Given the description of an element on the screen output the (x, y) to click on. 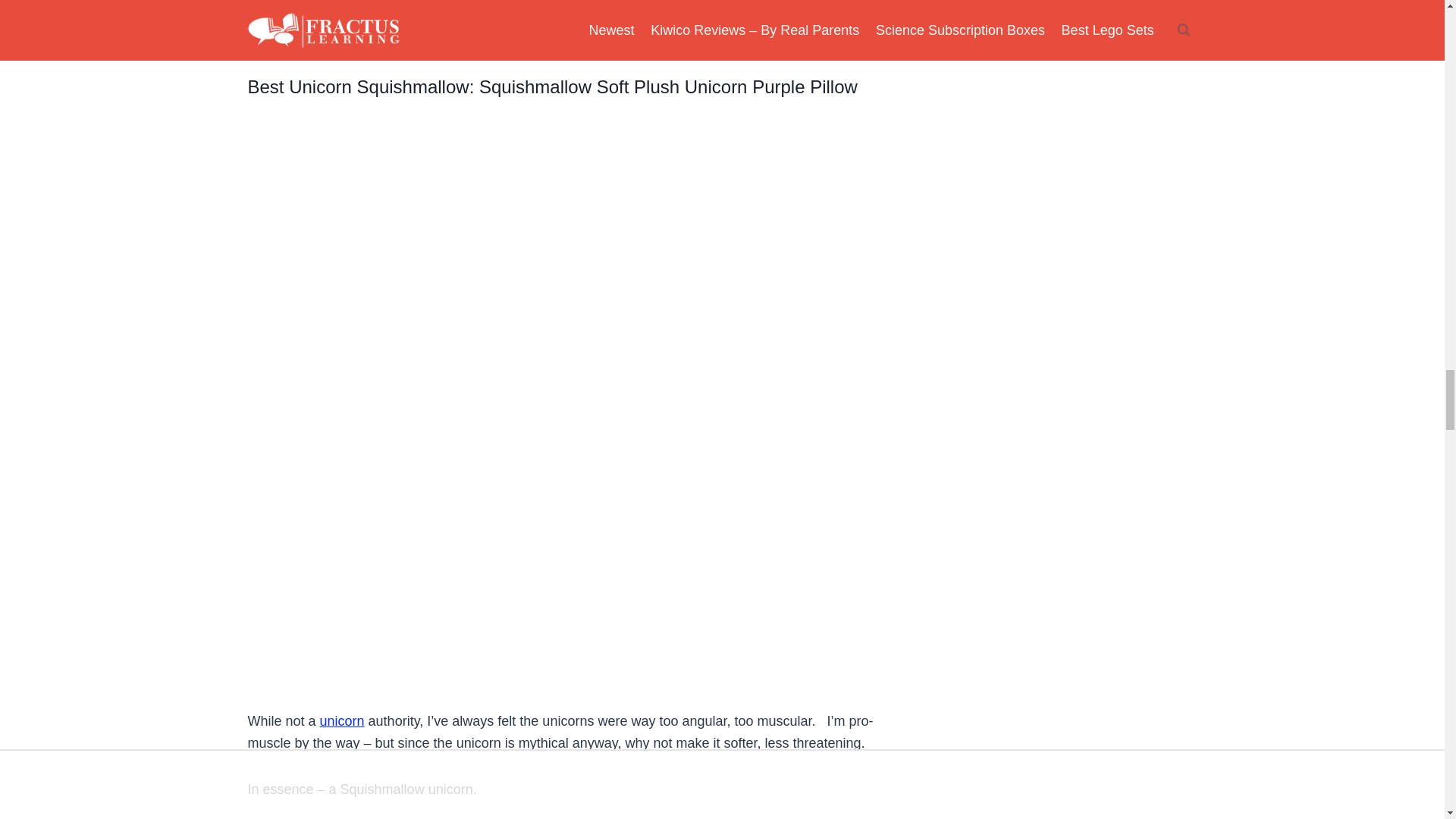
unicorn (342, 720)
Squishmallow Soft Plush Unicorn Purple Pillow (668, 86)
